Given the description of an element on the screen output the (x, y) to click on. 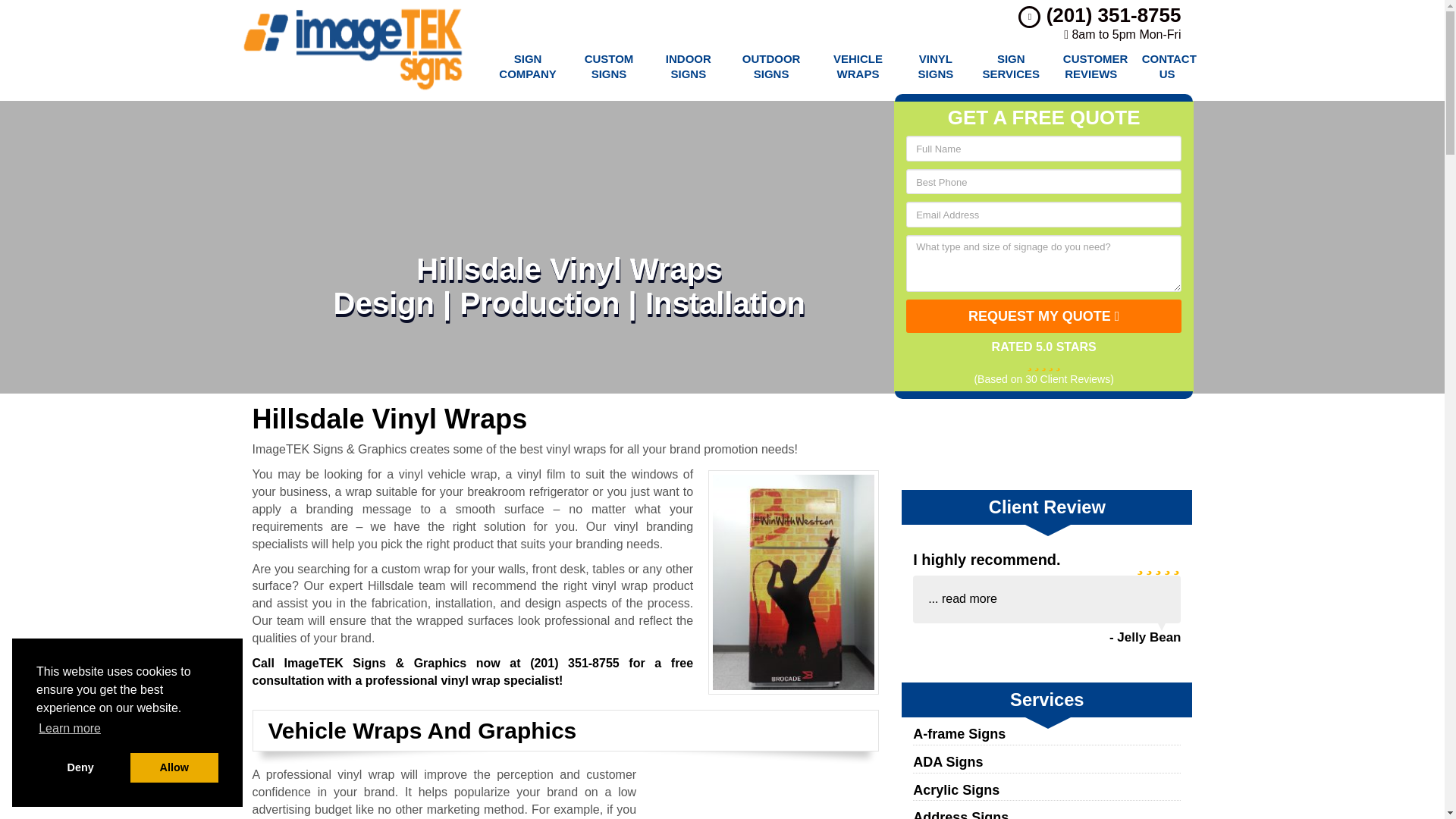
Deny (79, 767)
Sign Company (526, 66)
CUSTOM SIGNS (609, 66)
VEHICLE WRAPS (858, 66)
SIGN COMPANY (526, 66)
Learn more (69, 728)
OUTDOOR SIGNS (769, 66)
Outdoor Signs (769, 66)
Custom Signs (609, 66)
Allow (174, 767)
